Given the description of an element on the screen output the (x, y) to click on. 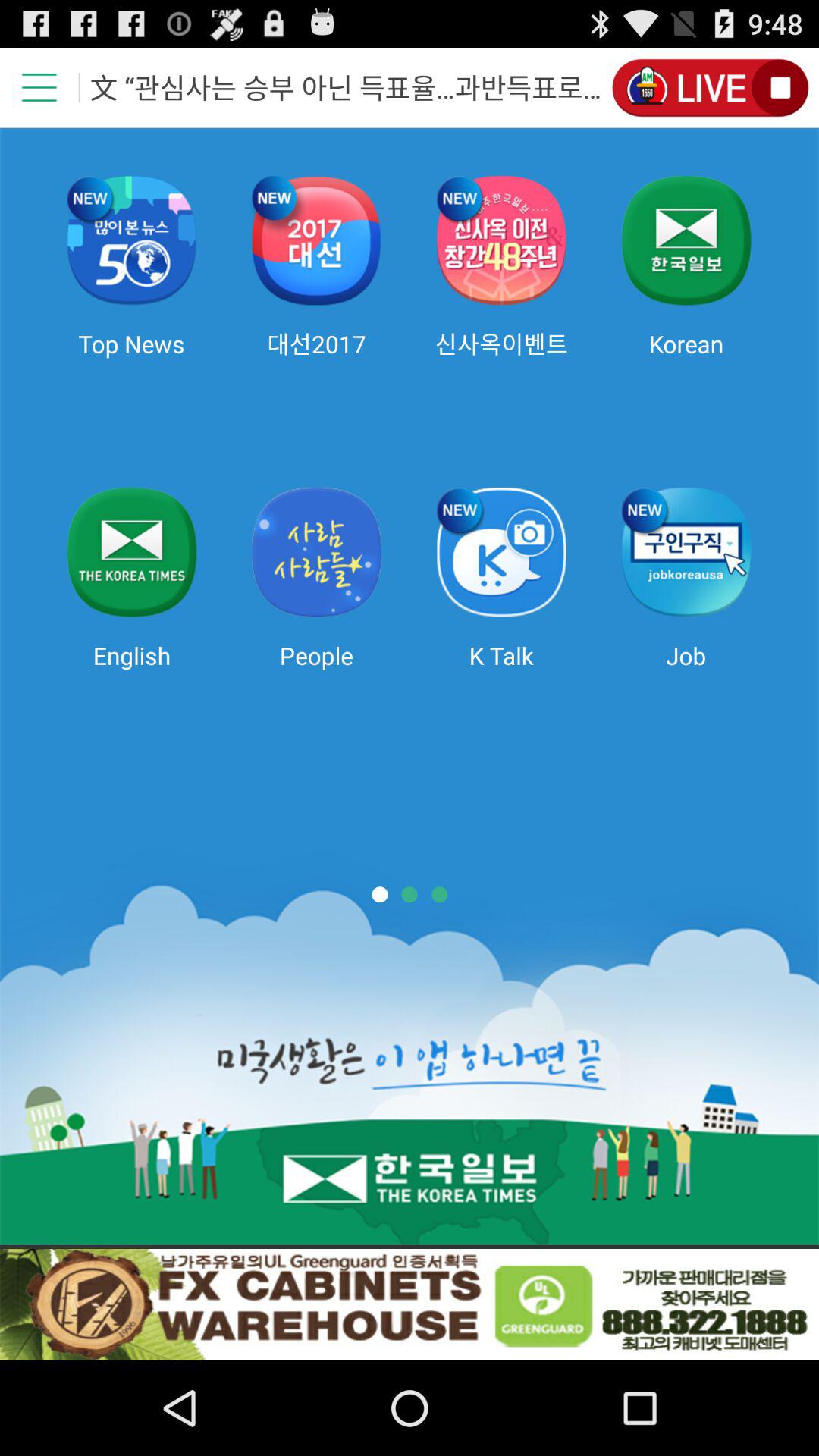
switch on the option (709, 87)
